Given the description of an element on the screen output the (x, y) to click on. 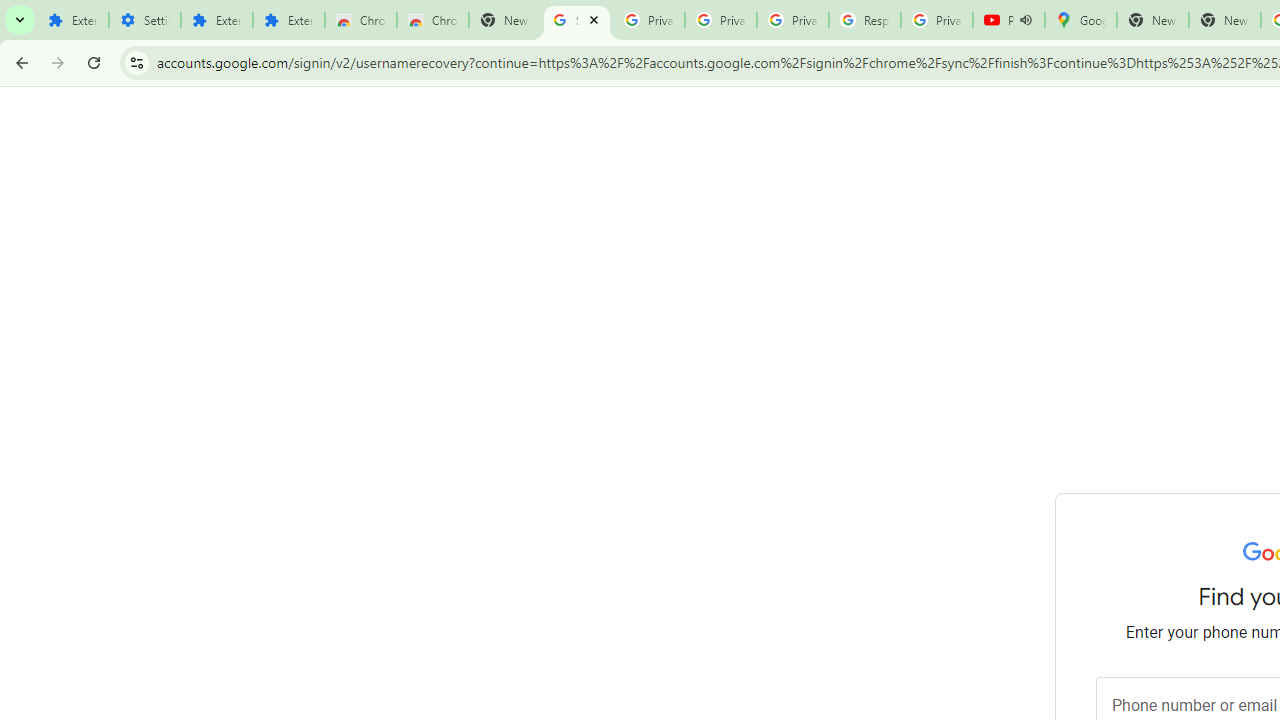
New Tab (504, 20)
Extensions (72, 20)
Extensions (289, 20)
Sign in - Google Accounts (577, 20)
